Given the description of an element on the screen output the (x, y) to click on. 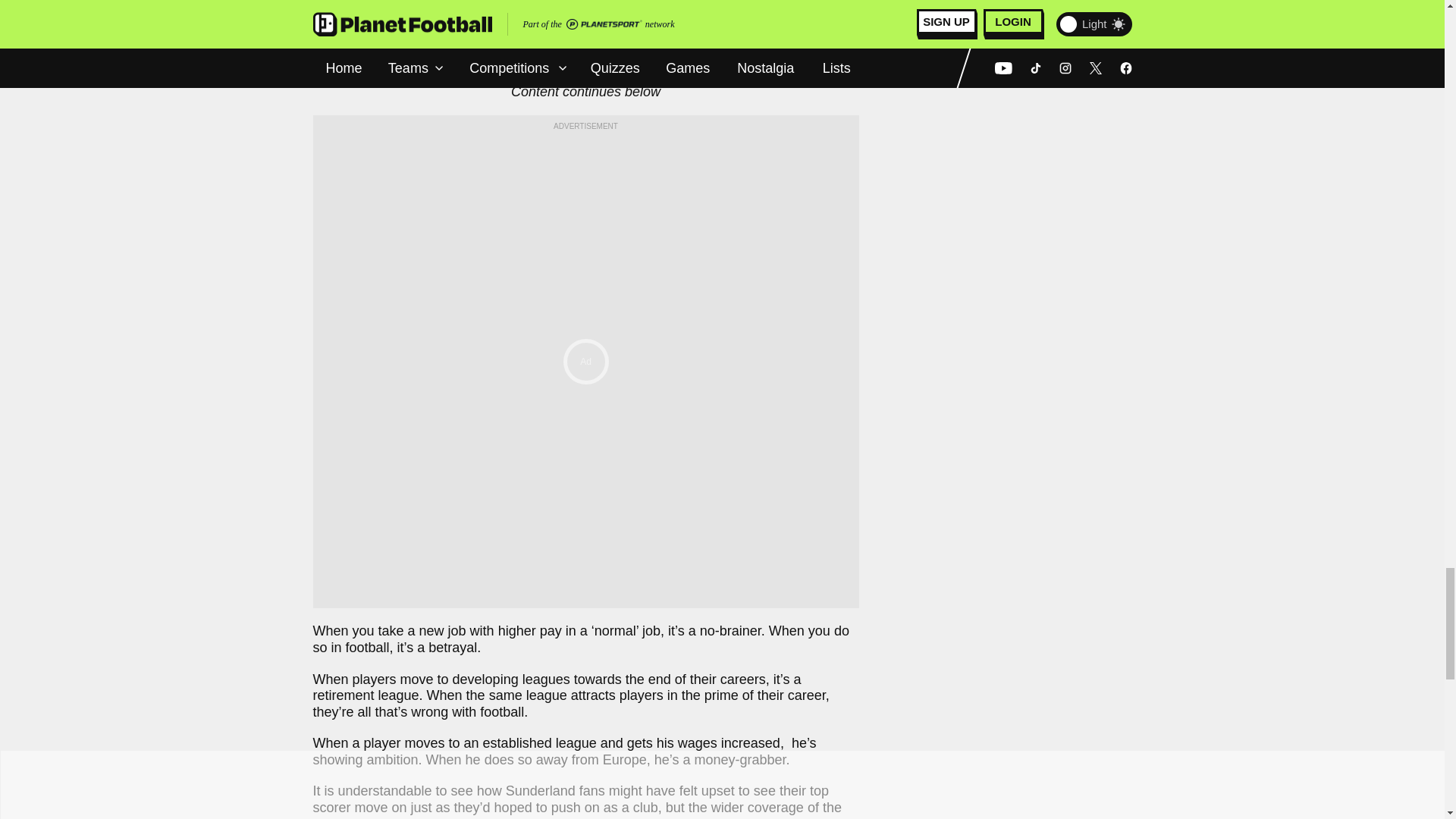
Content continues below (586, 92)
